Given the description of an element on the screen output the (x, y) to click on. 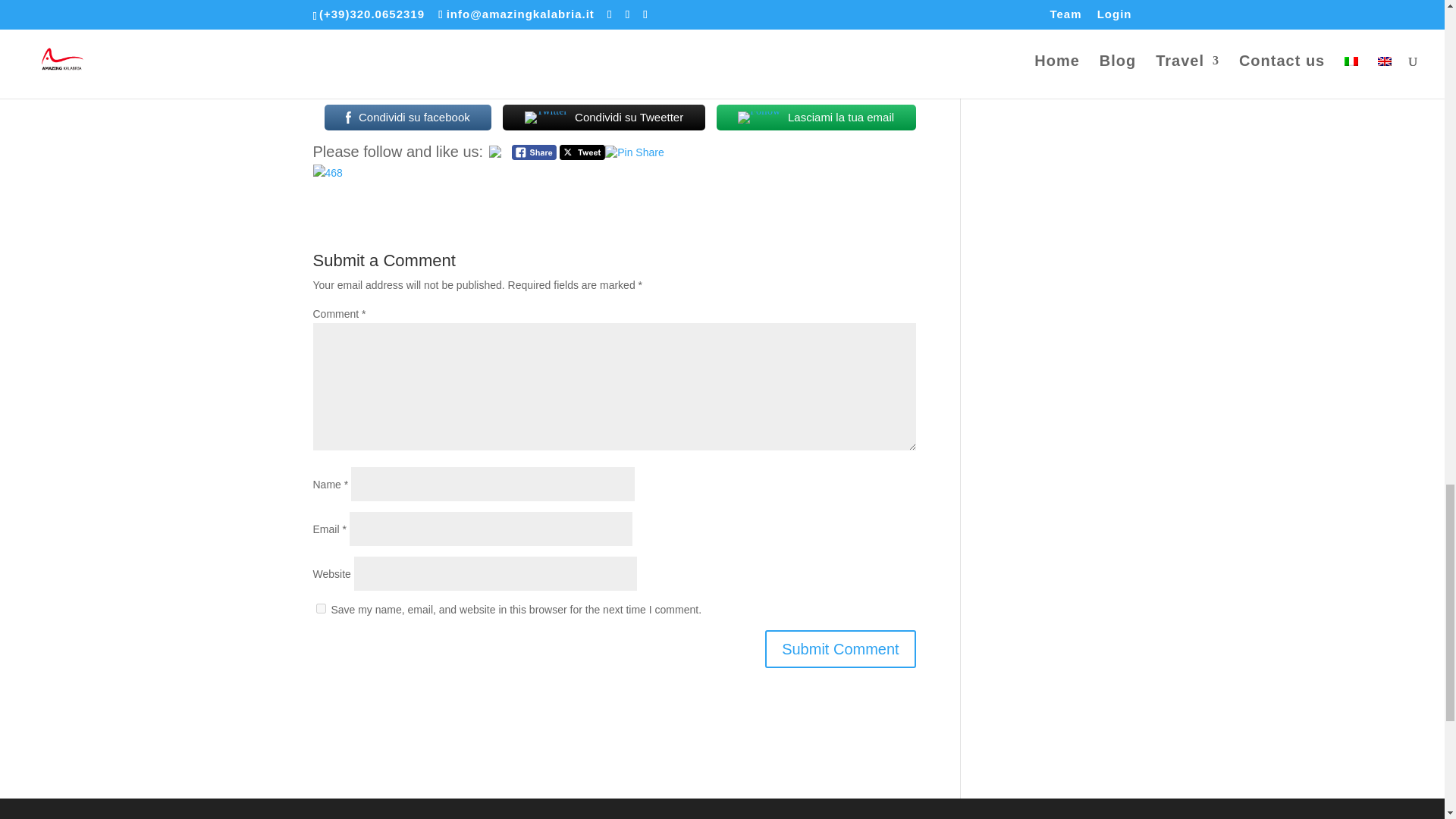
Tweet (582, 151)
Submit Comment (840, 648)
Pin Share (634, 151)
Facebook Share (534, 151)
Submit Comment (840, 648)
Condividi su facebook (408, 117)
Condividi su Tweetter (603, 117)
We Love Catanzaro (614, 46)
yes (319, 608)
Lasciami la tua email (815, 117)
